Given the description of an element on the screen output the (x, y) to click on. 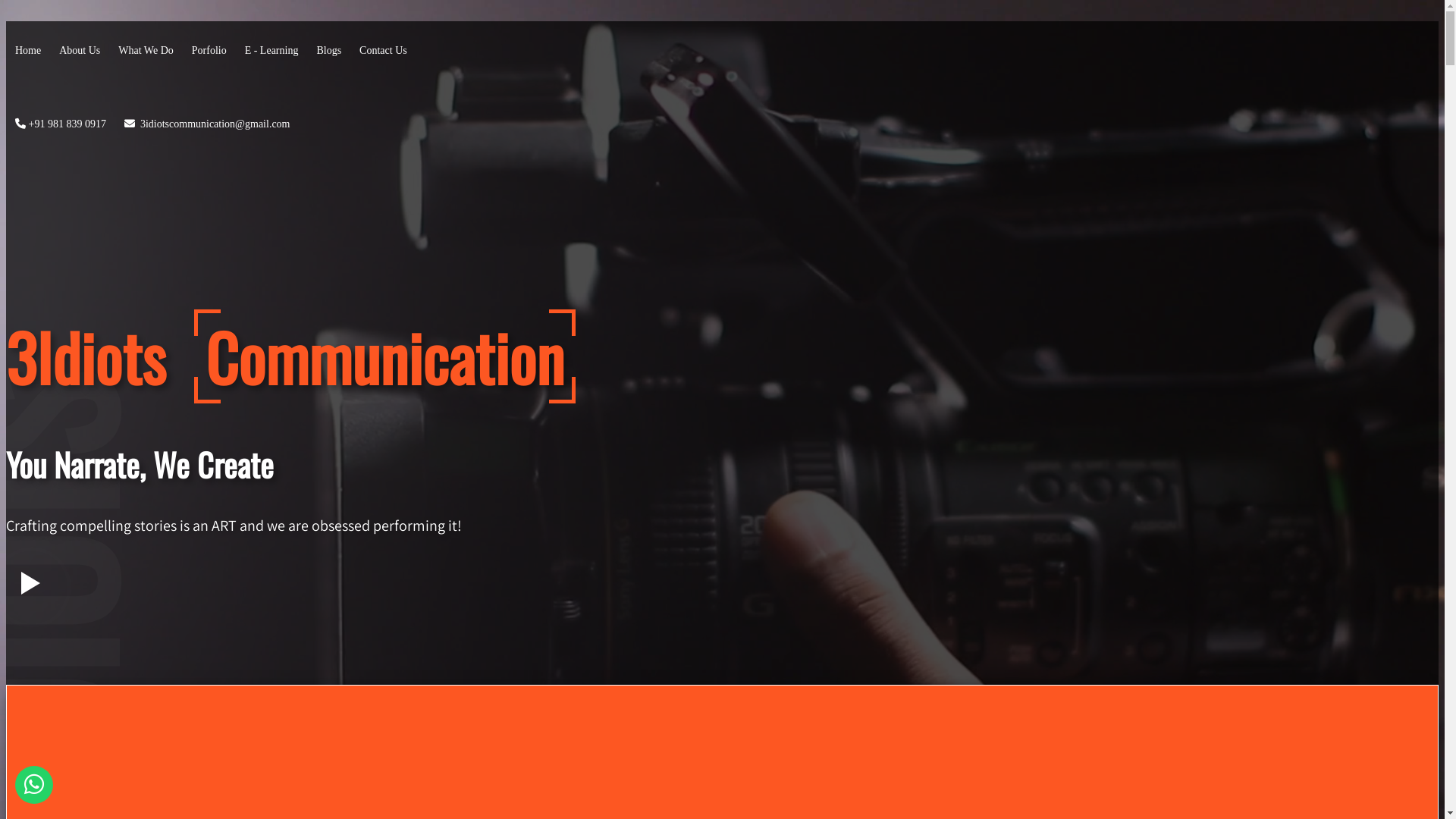
 3idiotscommunication@gmail.com Element type: text (207, 122)
About Us Element type: text (80, 49)
Contact Us Element type: text (382, 49)
Blogs Element type: text (329, 49)
Home Element type: text (29, 49)
Porfolio Element type: text (210, 49)
+91 981 839 0917 Element type: text (61, 122)
E - Learning Element type: text (273, 49)
What We Do Element type: text (146, 49)
